Given the description of an element on the screen output the (x, y) to click on. 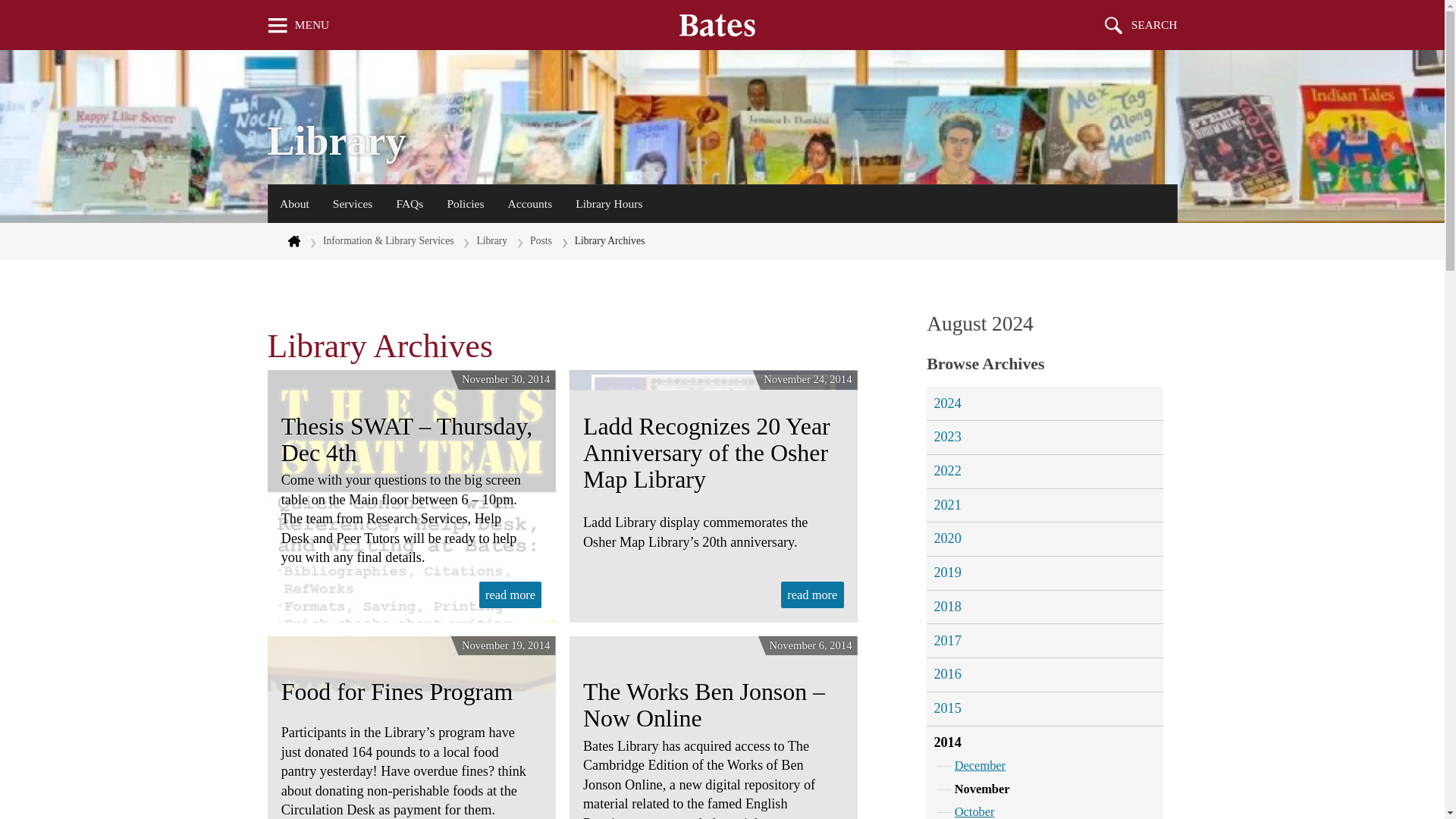
SEARCH (1141, 24)
Library (336, 140)
Frequently Asked Questions (409, 203)
Services (352, 203)
Bates wordmark (717, 24)
About (294, 203)
MENU (298, 24)
